Given the description of an element on the screen output the (x, y) to click on. 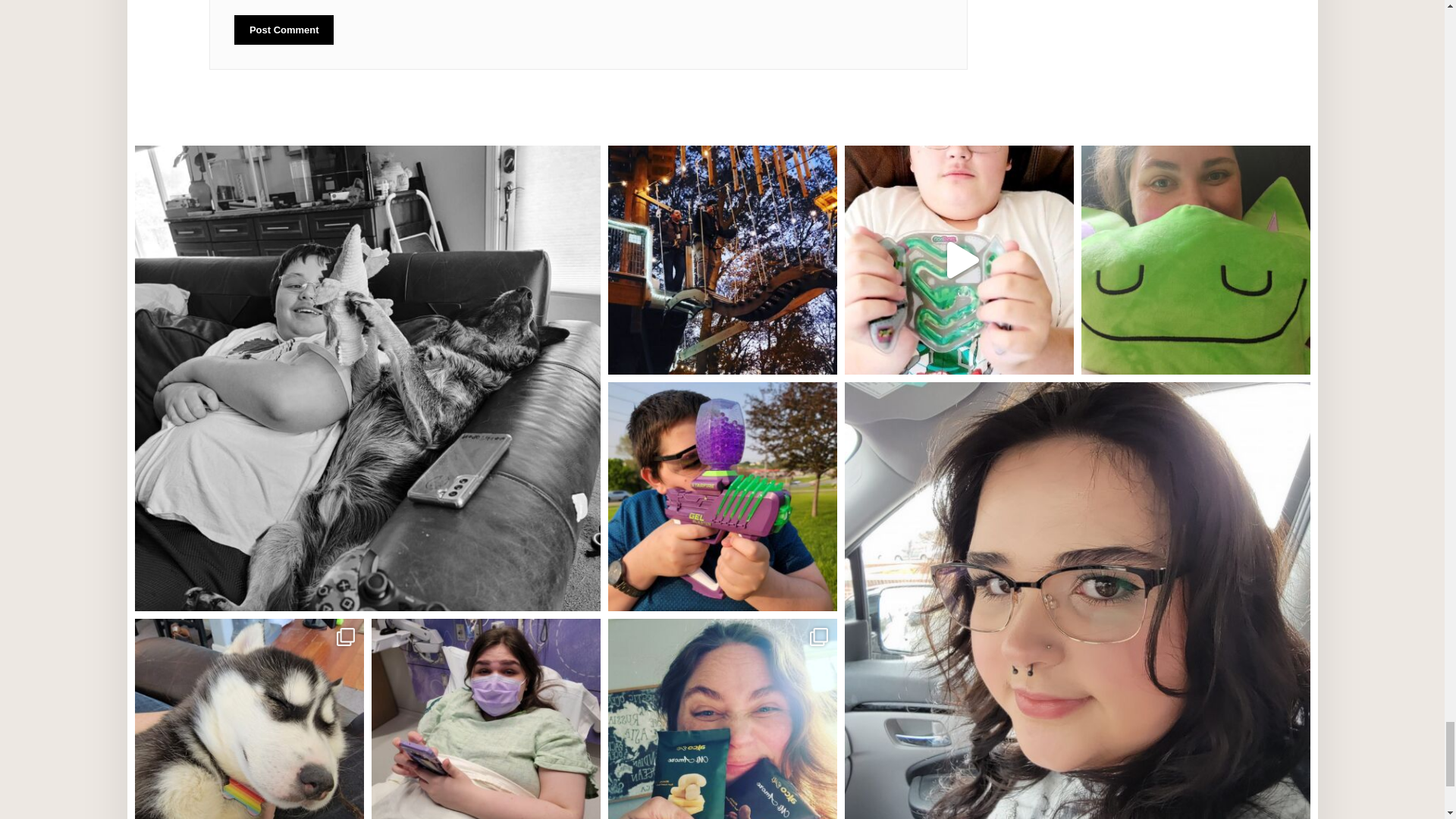
Post Comment (283, 30)
